Given the description of an element on the screen output the (x, y) to click on. 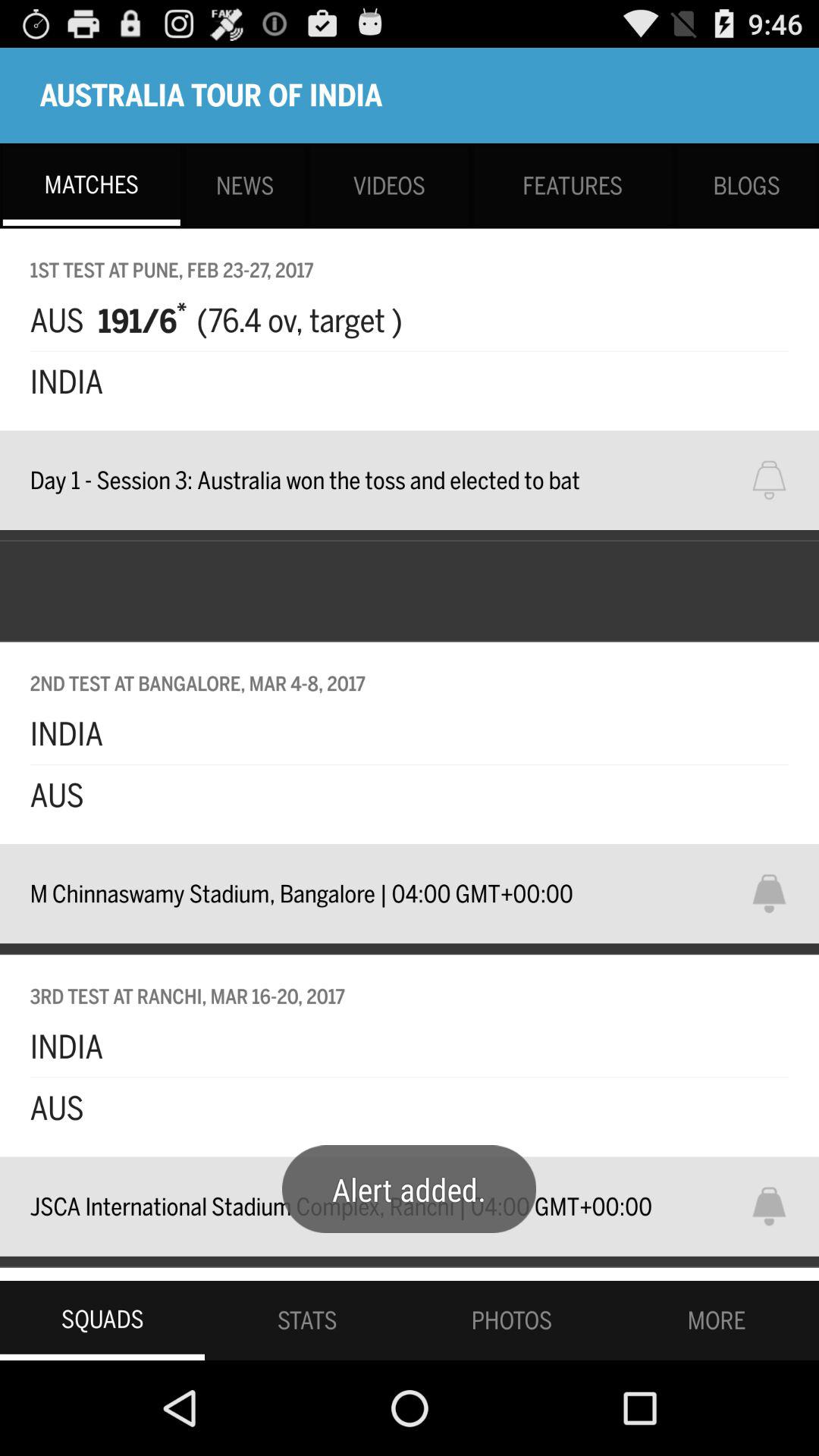
select for notification (778, 480)
